Given the description of an element on the screen output the (x, y) to click on. 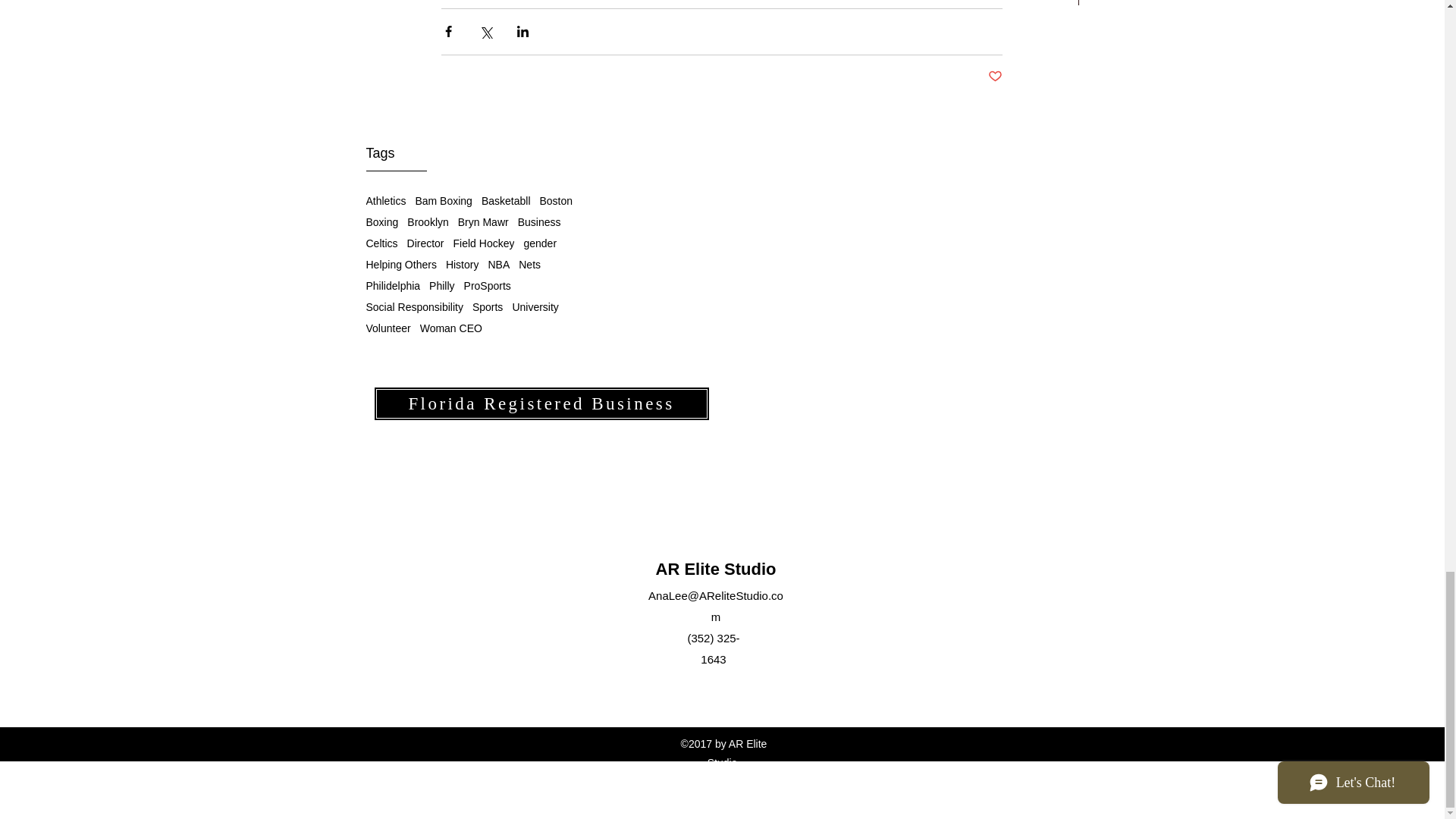
Woman CEO (450, 328)
Bryn Mawr (483, 222)
NBA (498, 264)
Business (539, 222)
Field Hockey (483, 243)
Athletics (385, 200)
University (534, 306)
Philly (441, 285)
Volunteer (387, 328)
gender (539, 243)
History (462, 264)
Nets (529, 264)
Helping Others (400, 264)
Basketabll (506, 200)
GmercyU Ranks High in Social Responsibility (721, 68)
